Given the description of an element on the screen output the (x, y) to click on. 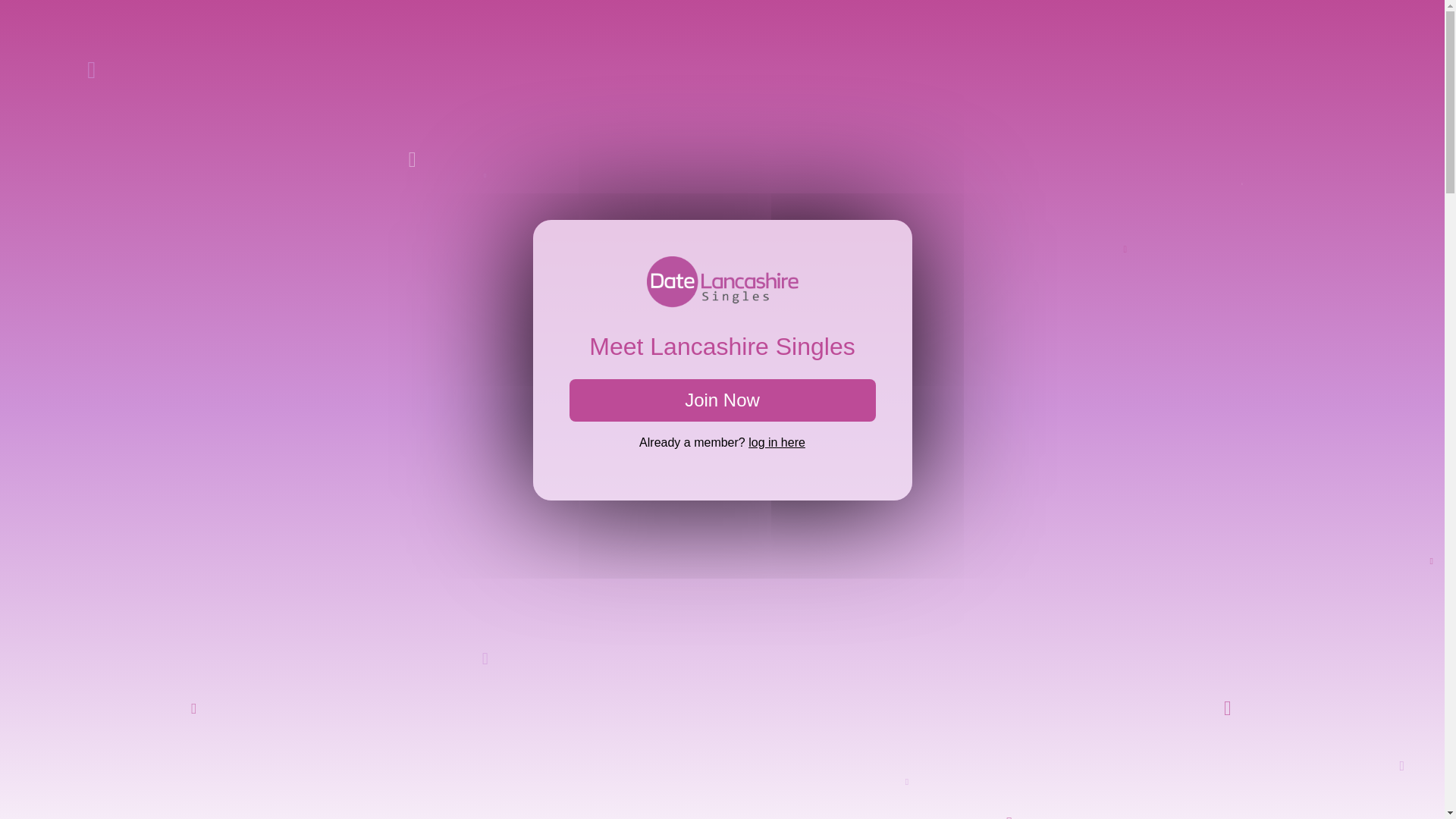
log in here (776, 441)
Join Now (722, 400)
